Given the description of an element on the screen output the (x, y) to click on. 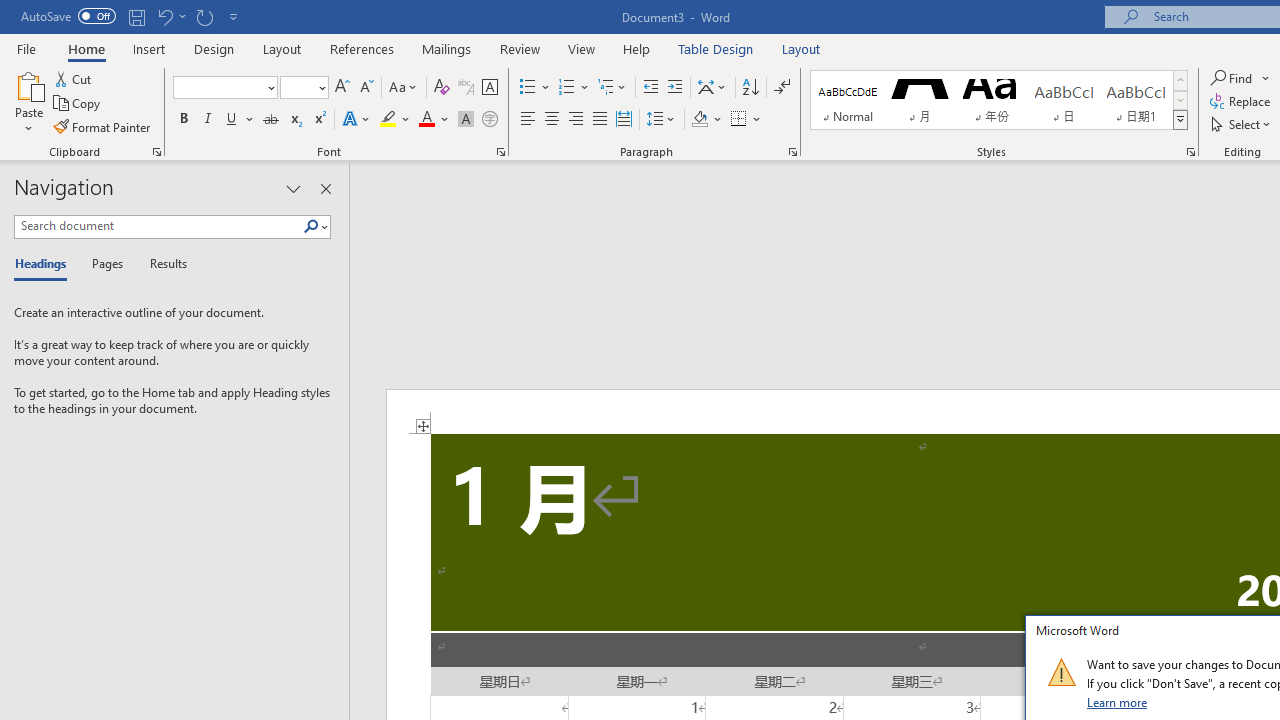
Increase Indent (675, 87)
Character Shading (465, 119)
Font Color RGB(255, 0, 0) (426, 119)
Copy (78, 103)
Decrease Indent (650, 87)
Italic (207, 119)
Styles (1179, 120)
Enclose Characters... (489, 119)
Shading (706, 119)
Text Highlight Color (395, 119)
